Given the description of an element on the screen output the (x, y) to click on. 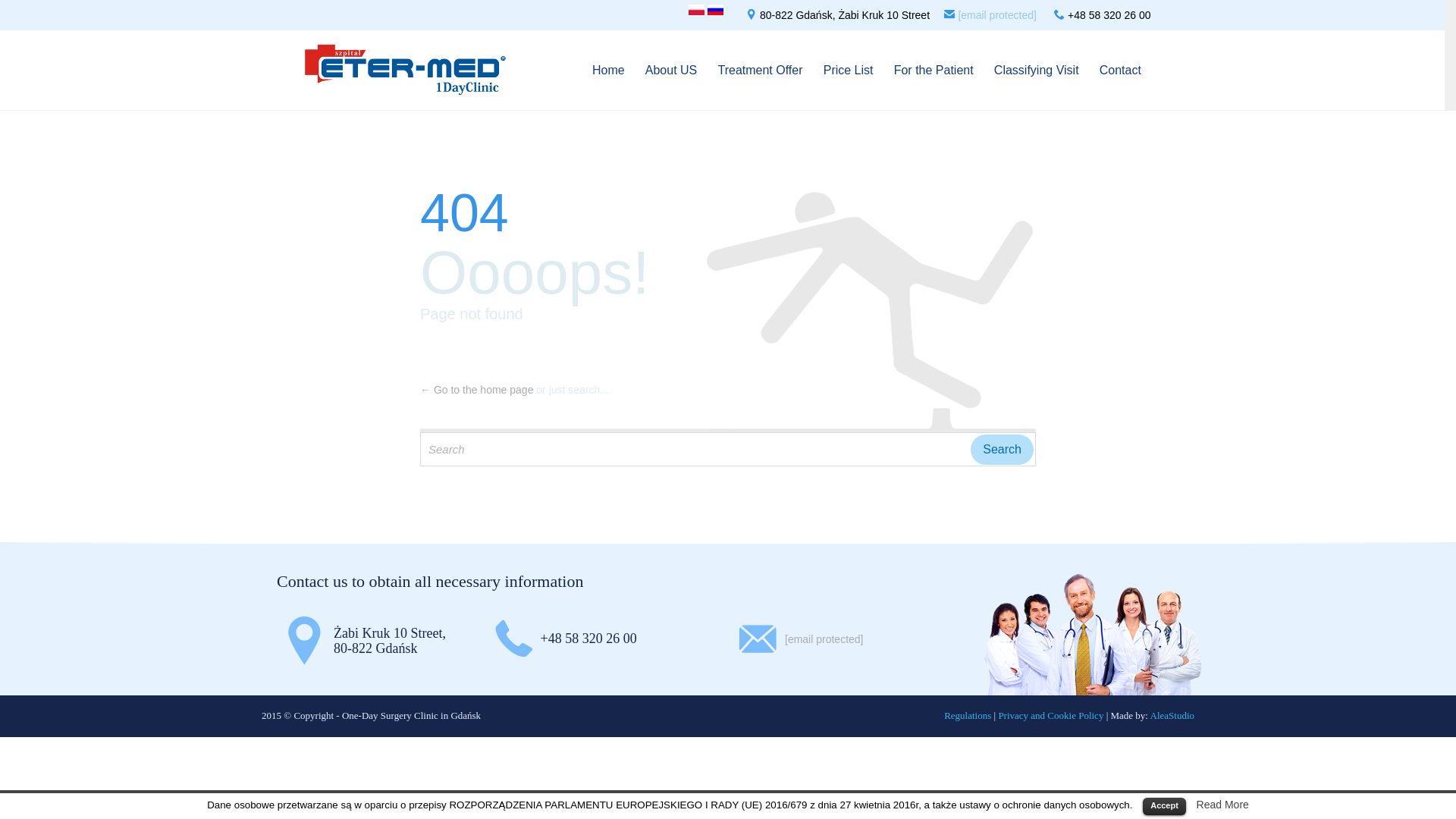
Price List Element type: text (847, 70)
Classifying Visit Element type: text (1035, 70)
Search Element type: text (1001, 449)
Home Element type: text (607, 70)
Treatment Offer Element type: text (759, 70)
[email protected] Element type: text (996, 15)
AleaStudio Element type: text (1171, 715)
For the Patient Element type: text (933, 70)
Accept Element type: text (1164, 806)
About US Element type: text (670, 70)
Contact Element type: text (1120, 70)
[email protected] Element type: text (823, 639)
Regulations Element type: text (967, 715)
Privacy and Cookie Policy Element type: text (1050, 715)
Read More Element type: text (1222, 804)
Skip to content Element type: text (1154, 53)
